Given the description of an element on the screen output the (x, y) to click on. 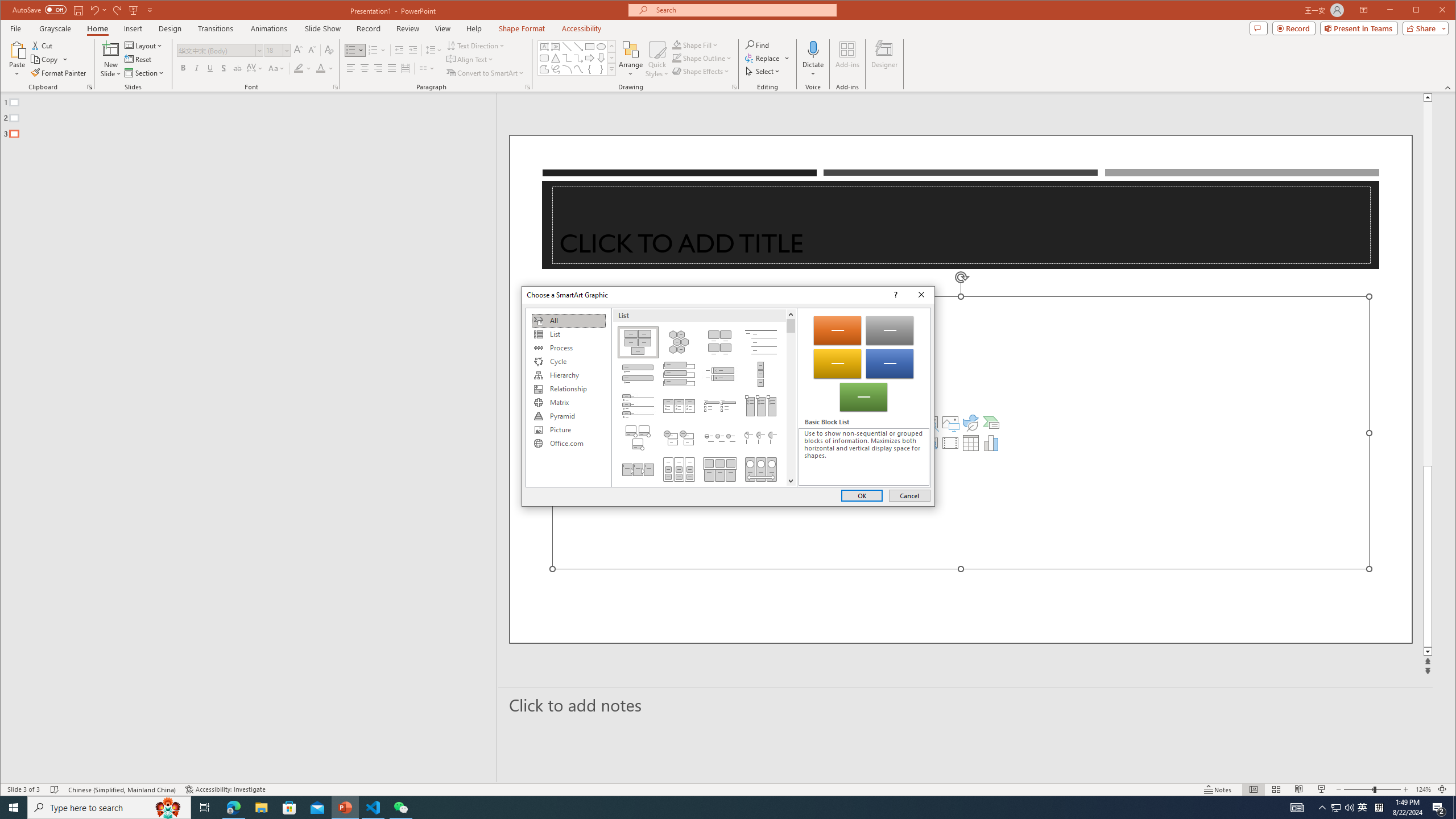
Detailed Process (637, 469)
Graphic Categories (568, 397)
Reset (138, 59)
Start (13, 807)
Strikethrough (237, 68)
Tray Input Indicator - Chinese (Simplified, China) (1378, 807)
Vertical Bullet List (637, 373)
Microsoft search (742, 10)
Title TextBox (960, 224)
Select (763, 70)
Zoom 124% (1422, 789)
